Given the description of an element on the screen output the (x, y) to click on. 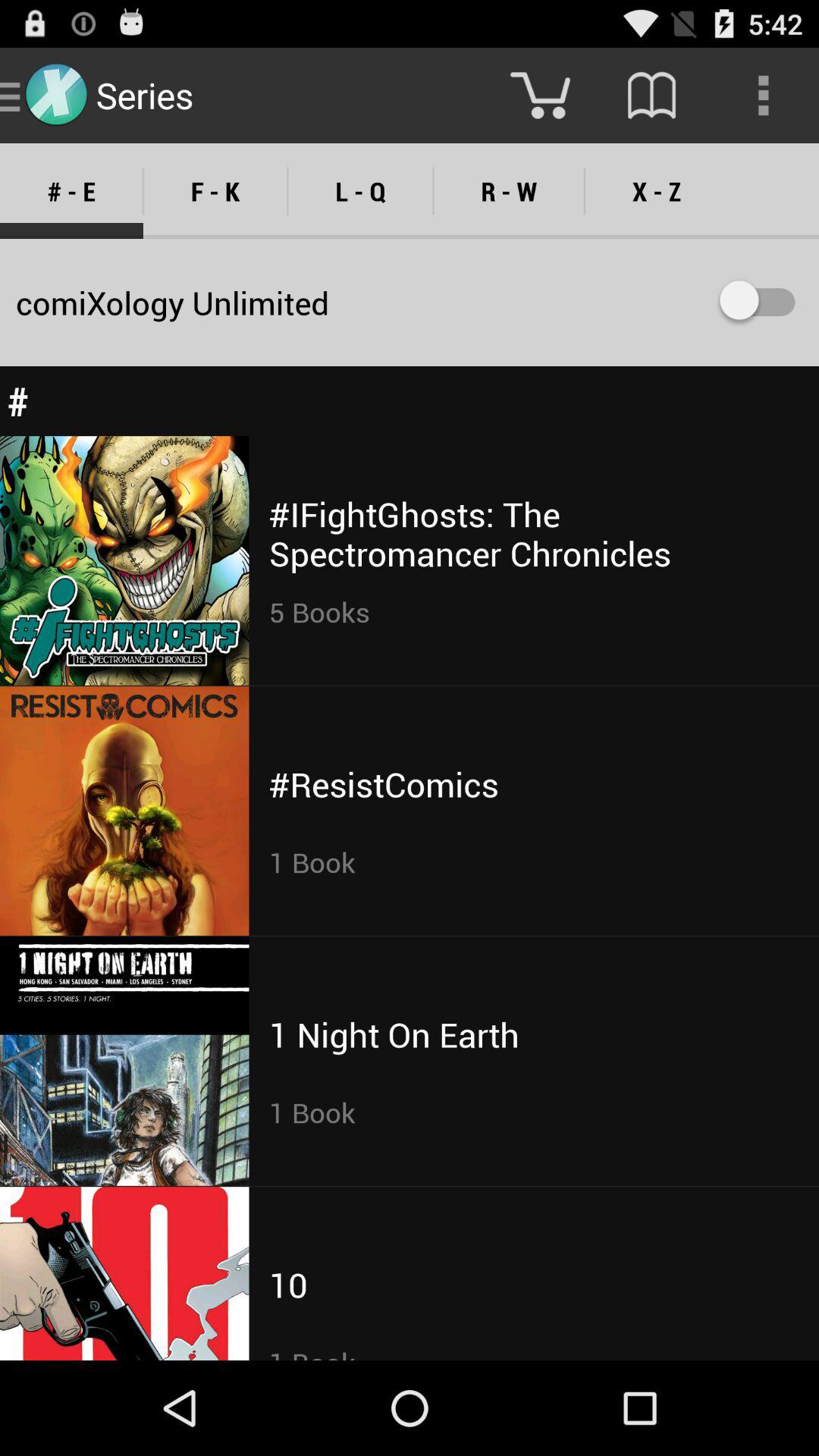
turn on the icon below the x - z item (759, 302)
